Given the description of an element on the screen output the (x, y) to click on. 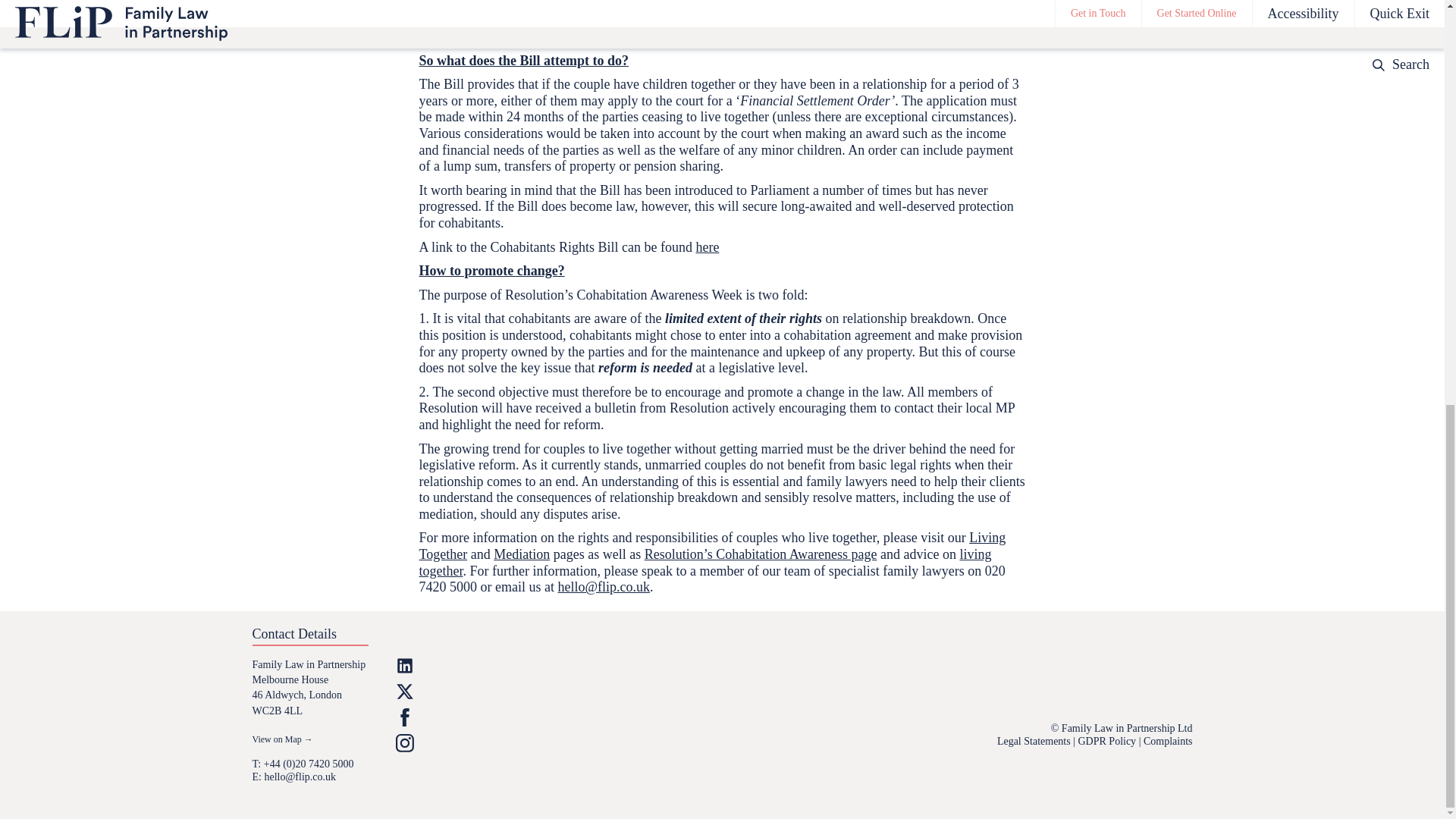
Living Together (712, 545)
Complaints (1167, 740)
here (707, 246)
Legal Statements (1033, 740)
living together (705, 562)
Mediation (521, 554)
GDPR Policy (1107, 740)
